Given the description of an element on the screen output the (x, y) to click on. 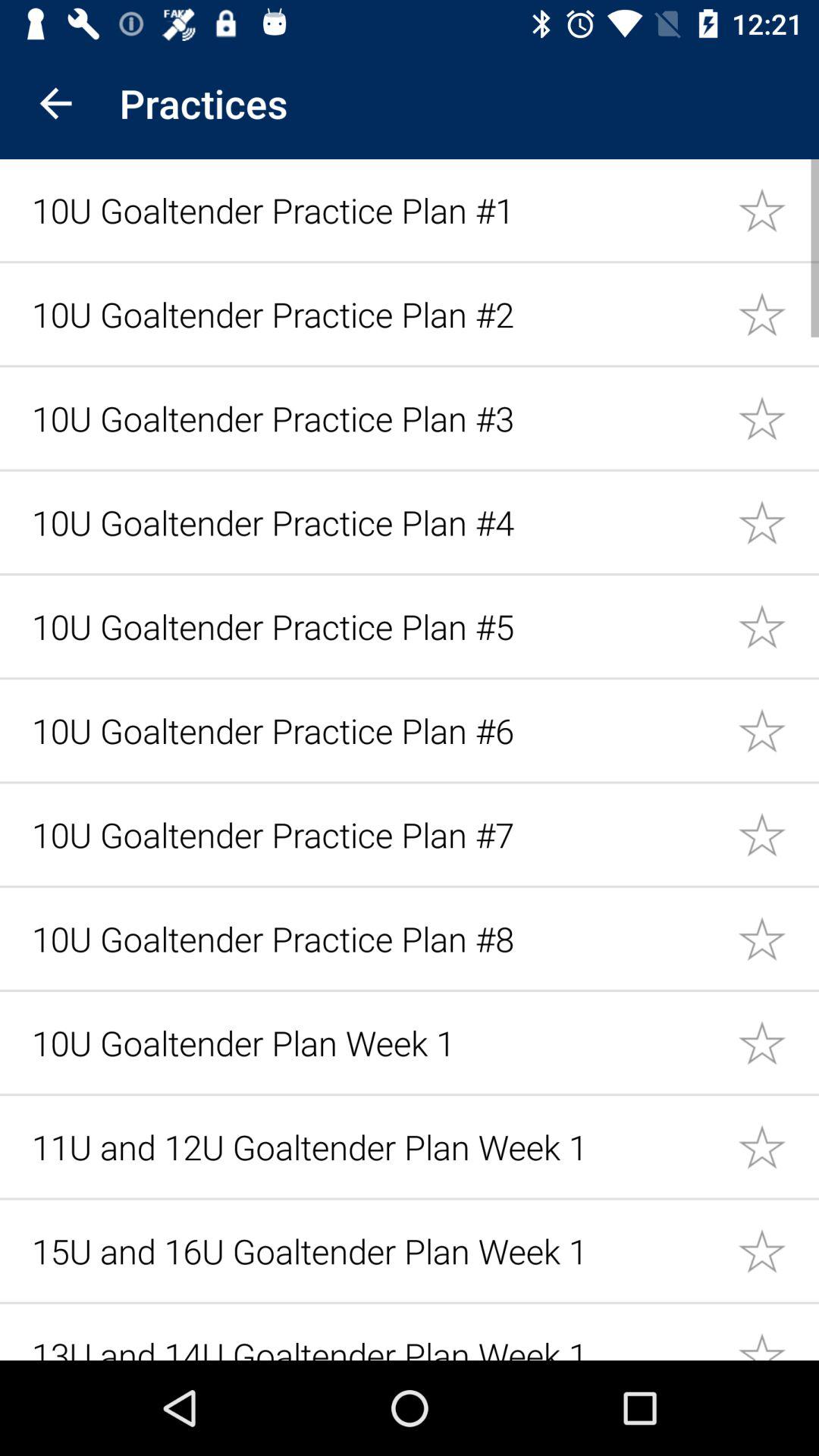
mark as important (778, 522)
